Given the description of an element on the screen output the (x, y) to click on. 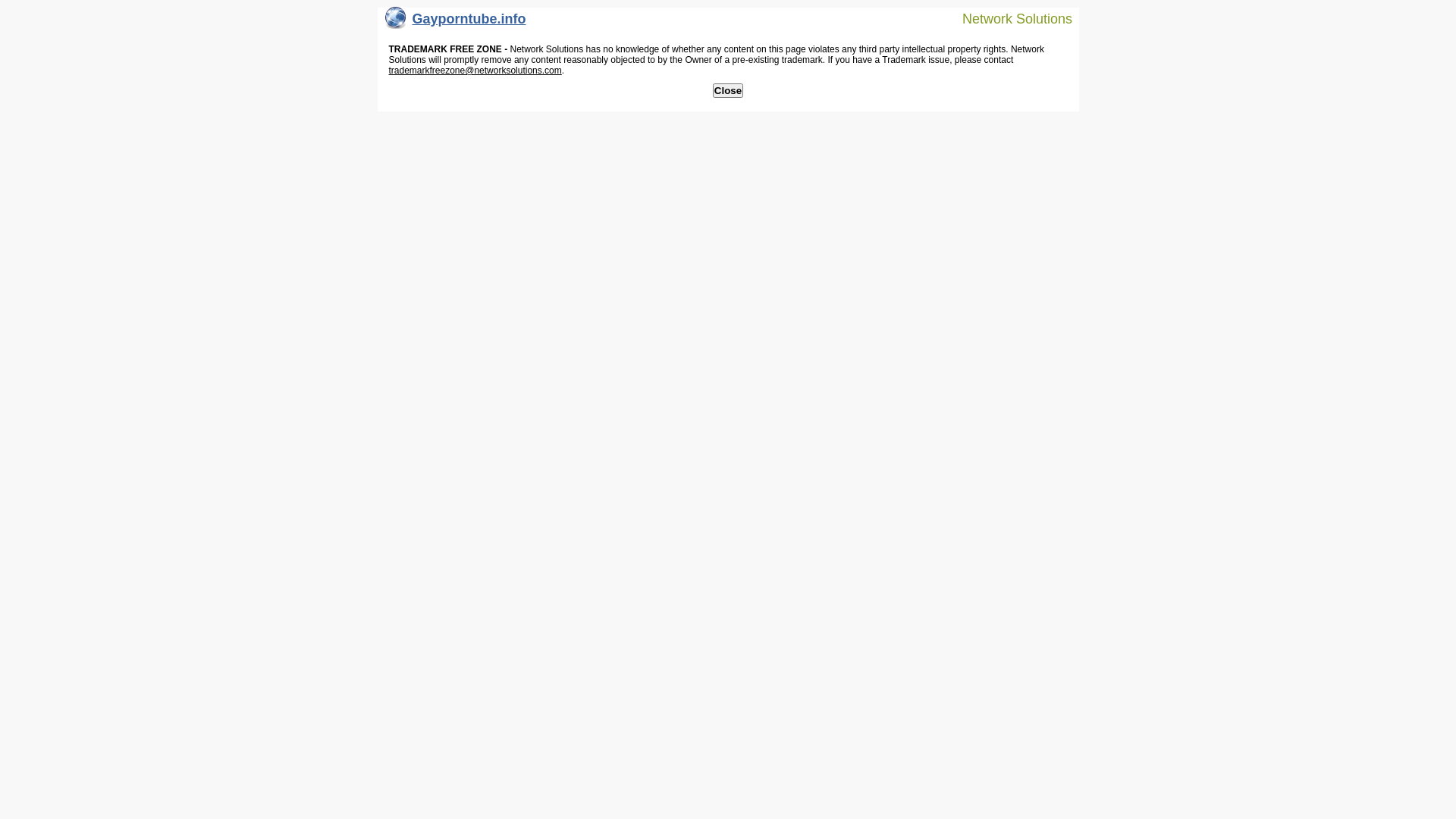
Network Solutions Element type: text (1007, 17)
Close Element type: text (727, 90)
Gayporntube.info Element type: text (455, 21)
trademarkfreezone@networksolutions.com Element type: text (474, 70)
